Given the description of an element on the screen output the (x, y) to click on. 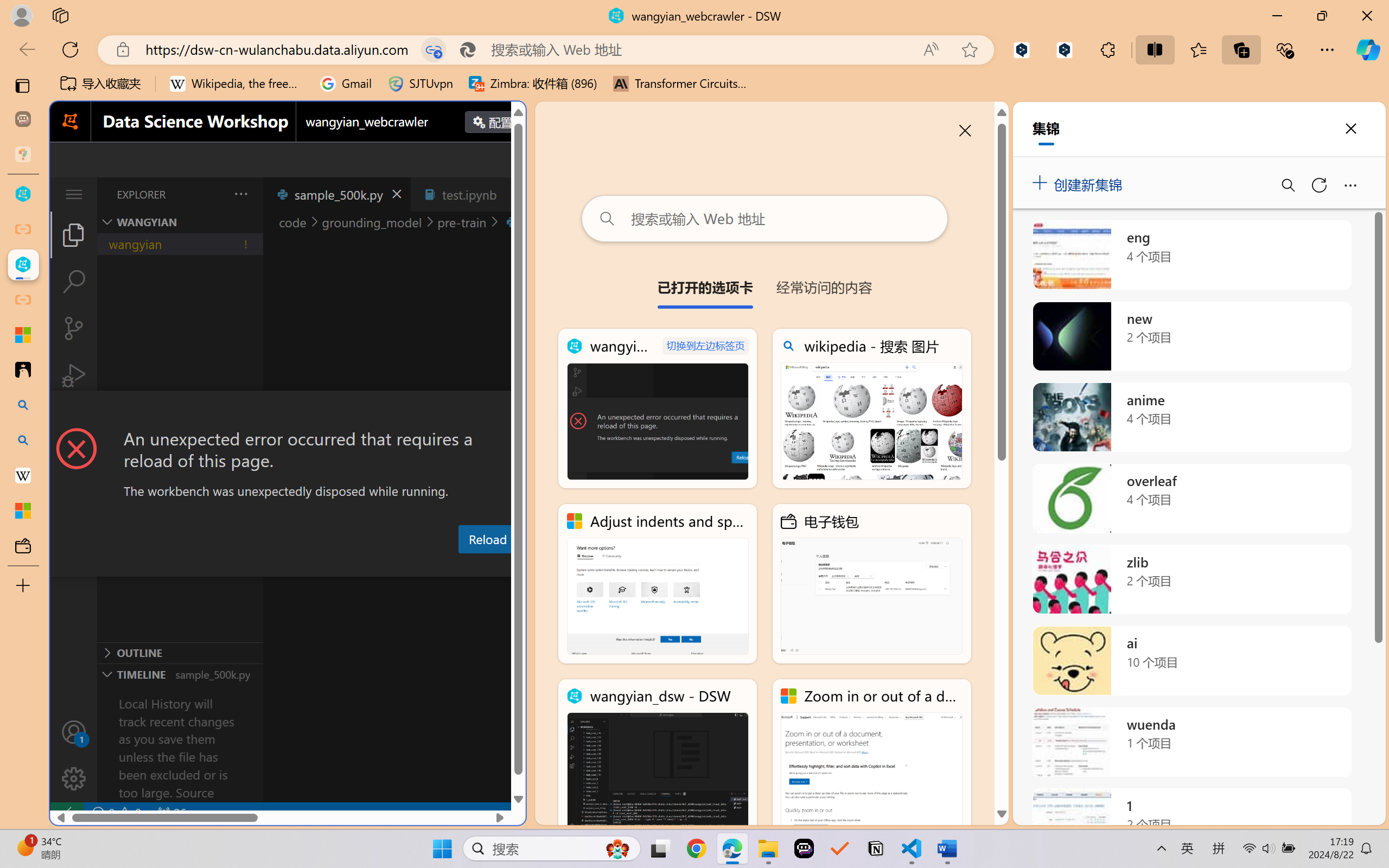
Close (Ctrl+F4) (512, 194)
wangyian_webcrawler - DSW (657, 408)
wangyian_dsw - DSW (657, 758)
Adjust indents and spacing - Microsoft Support (22, 334)
Output (Ctrl+Shift+U) (377, 565)
sample_500k.py (336, 194)
